Given the description of an element on the screen output the (x, y) to click on. 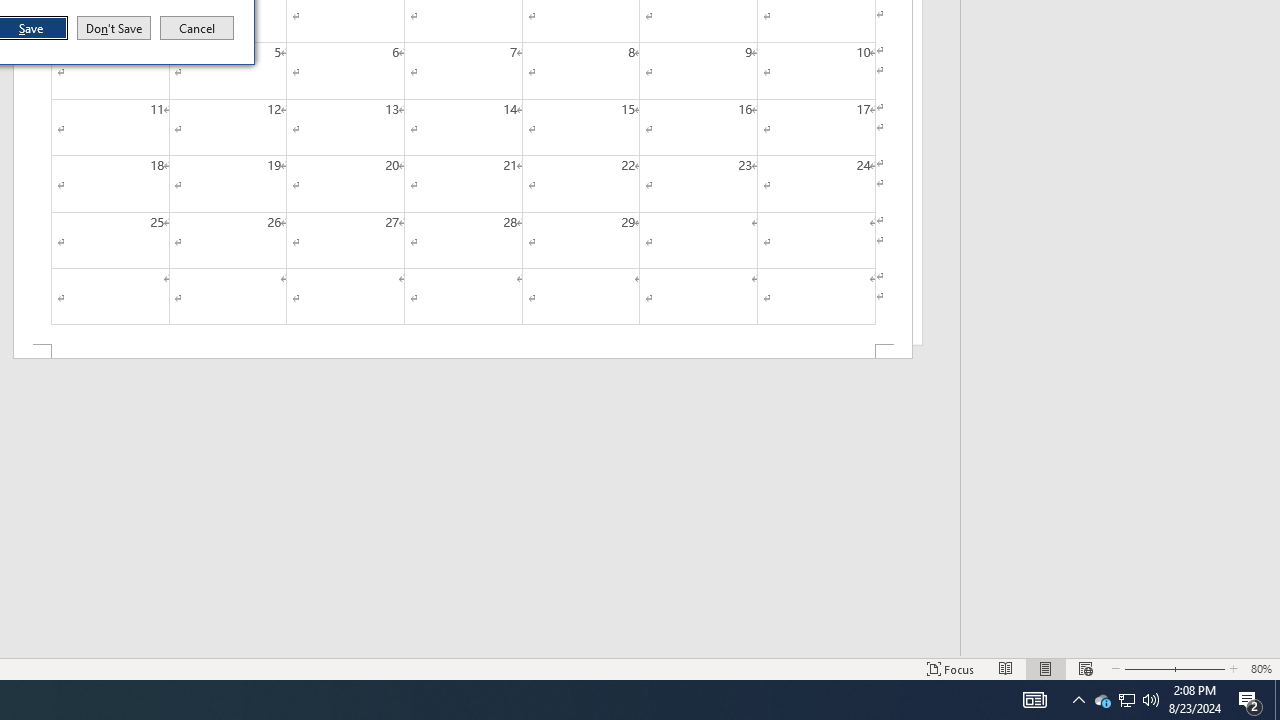
Action Center, 2 new notifications (1250, 699)
Notification Chevron (1078, 699)
Q2790: 100% (1151, 699)
Read Mode (1005, 668)
AutomationID: 4105 (1034, 699)
Web Layout (1085, 668)
Zoom In (1195, 668)
